Given the description of an element on the screen output the (x, y) to click on. 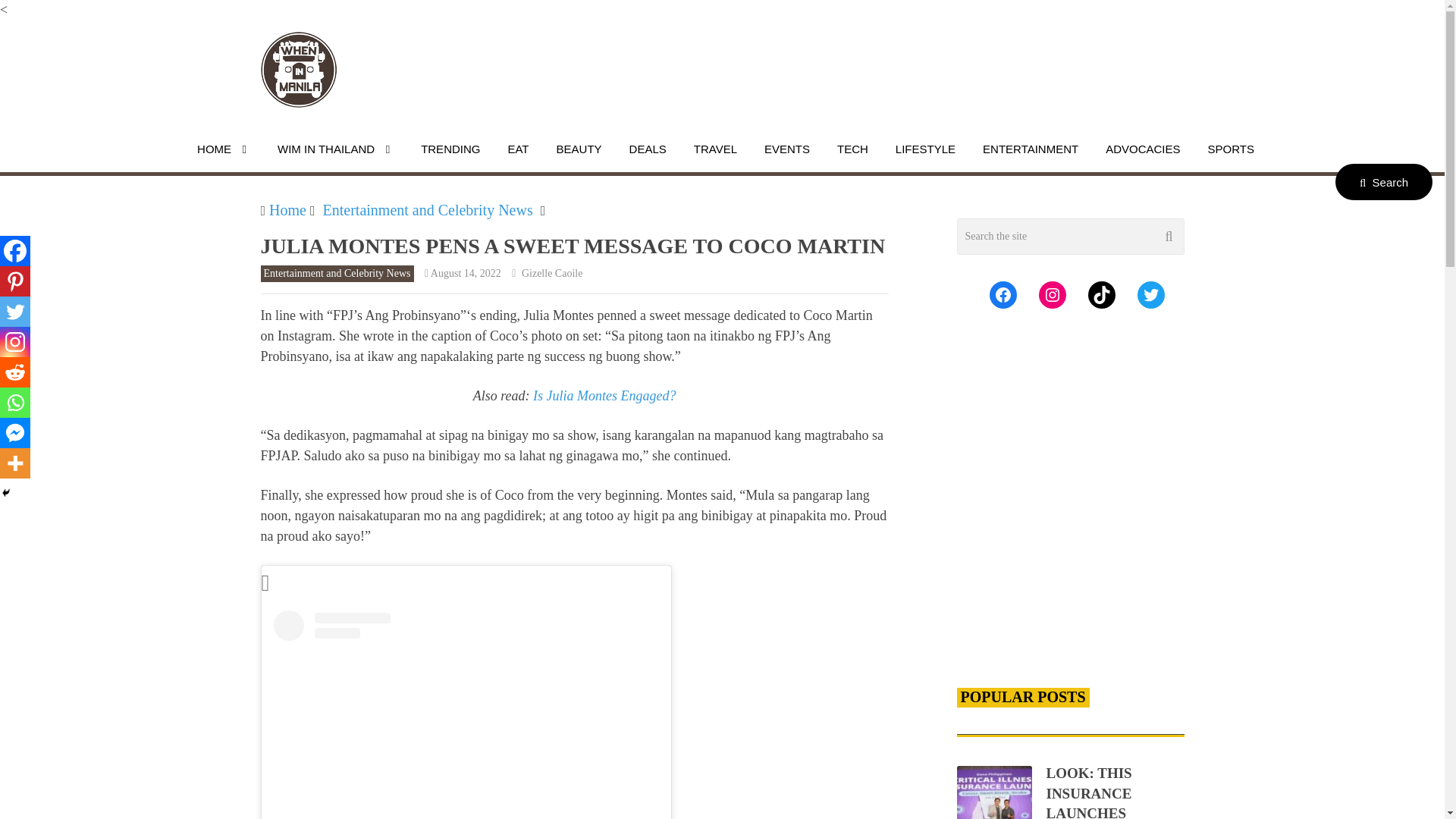
LIFESTYLE (924, 148)
Posts by Gizelle Caoile (551, 273)
EVENTS (786, 148)
Twitter (15, 311)
ENTERTAINMENT (1030, 148)
  Search (1383, 181)
SPORTS (1230, 148)
Pinterest (15, 281)
BEAUTY (578, 148)
Facebook (15, 250)
Reddit (15, 372)
TECH (852, 148)
ADVOCACIES (1142, 148)
View all posts in Entertainment and Celebrity News (336, 273)
TRENDING (450, 148)
